Given the description of an element on the screen output the (x, y) to click on. 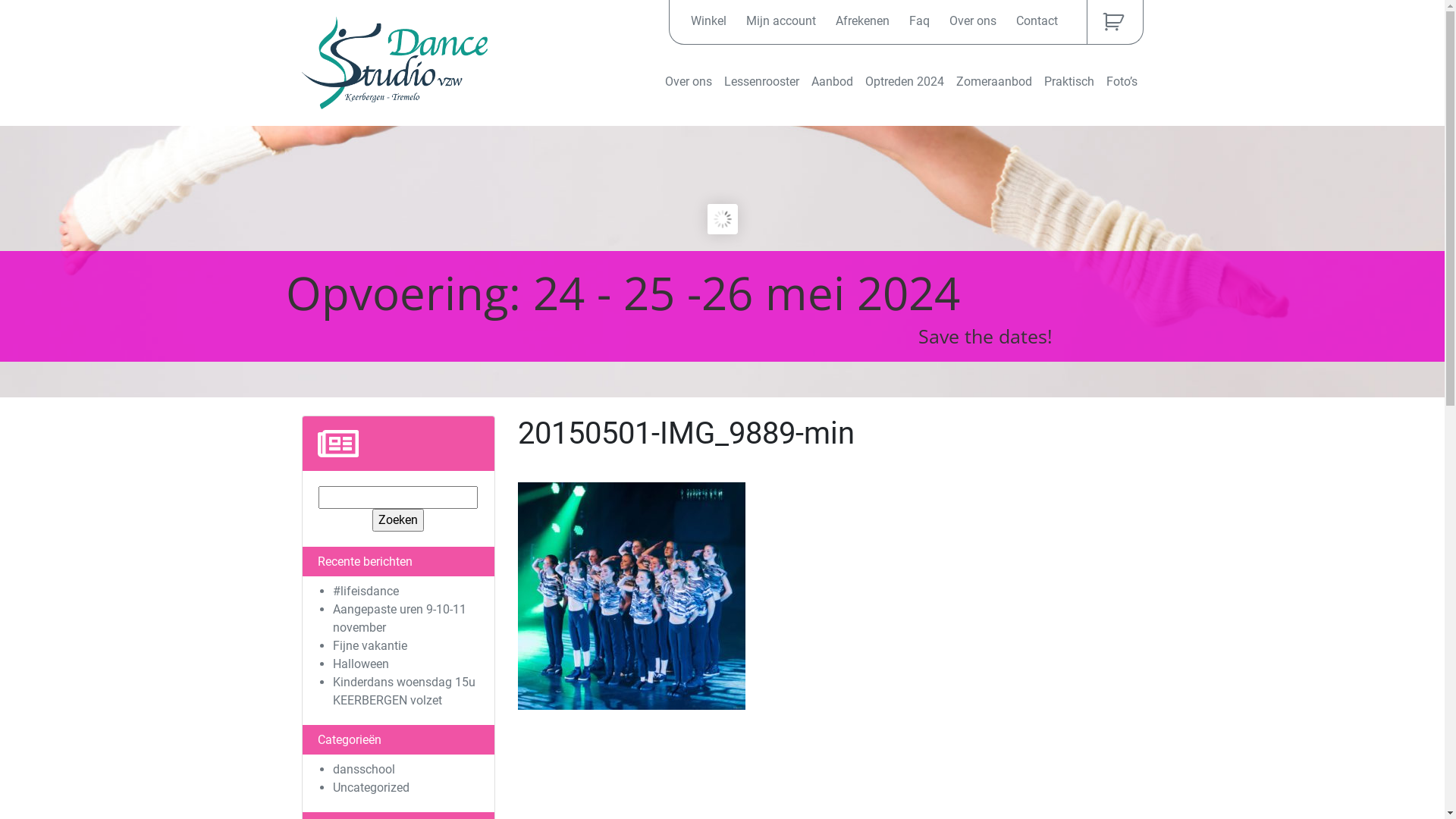
Mijn account Element type: text (781, 21)
Lessenrooster Element type: text (760, 81)
Fijne vakantie Element type: text (369, 645)
#lifeisdance Element type: text (365, 590)
Aangepaste uren 9-10-11 november Element type: text (398, 618)
Kinderdans woensdag 15u KEERBERGEN volzet Element type: text (403, 690)
Uncategorized Element type: text (370, 787)
Zoeken Element type: text (397, 519)
dansschool Element type: text (363, 769)
Winkel Element type: text (707, 21)
Aanbod Element type: text (832, 81)
Zomeraanbod Element type: text (993, 81)
Afrekenen Element type: text (862, 21)
Faq Element type: text (918, 21)
Optreden 2024 Element type: text (903, 81)
Over ons Element type: text (687, 81)
Halloween Element type: text (360, 663)
Over ons Element type: text (972, 21)
Contact Element type: text (1036, 21)
Praktisch Element type: text (1068, 81)
